Given the description of an element on the screen output the (x, y) to click on. 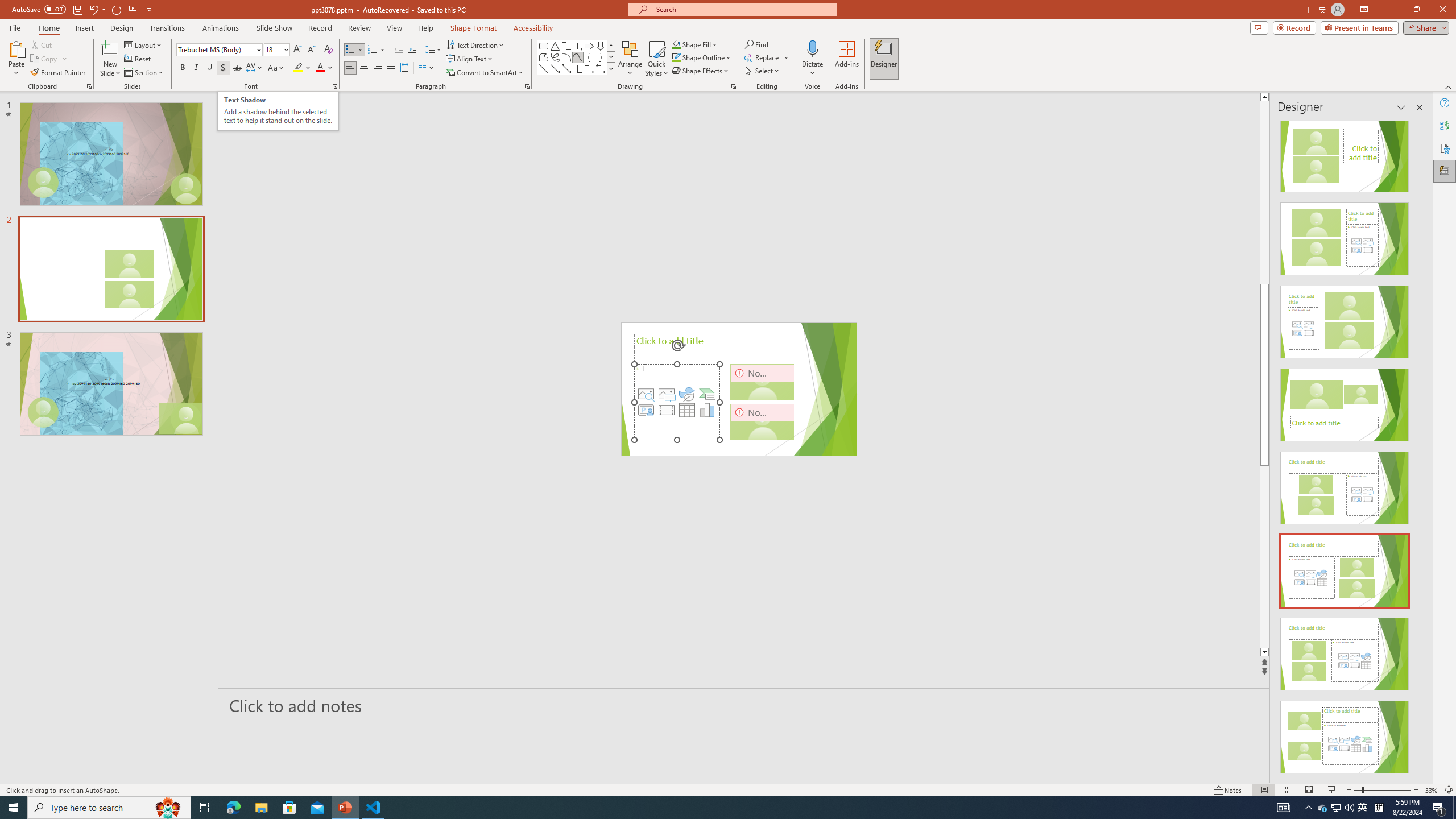
Camera 3, No camera detected. (761, 421)
